Given the description of an element on the screen output the (x, y) to click on. 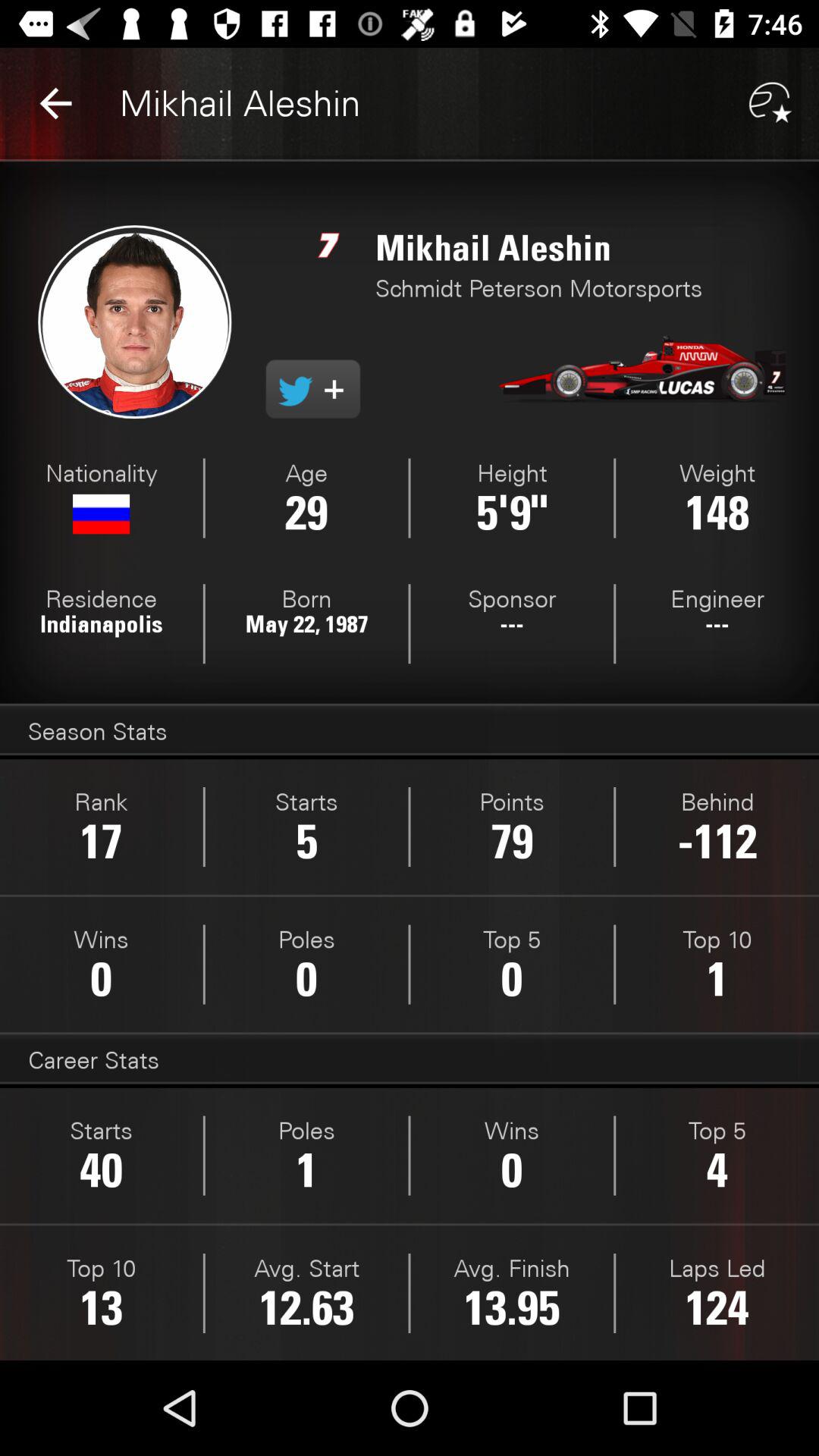
click the item next to mikhail aleshin item (55, 103)
